Given the description of an element on the screen output the (x, y) to click on. 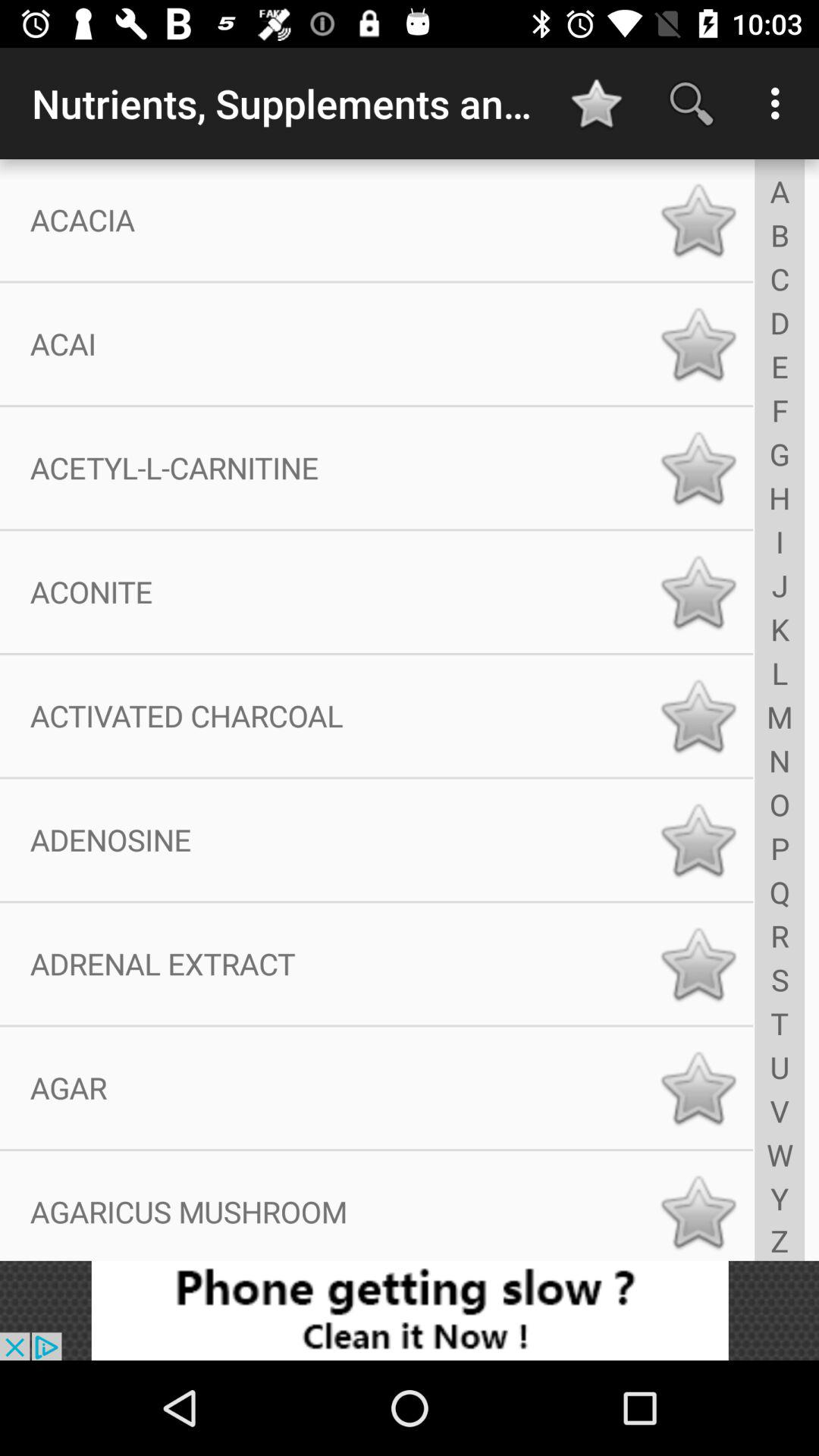
select star (697, 220)
